Given the description of an element on the screen output the (x, y) to click on. 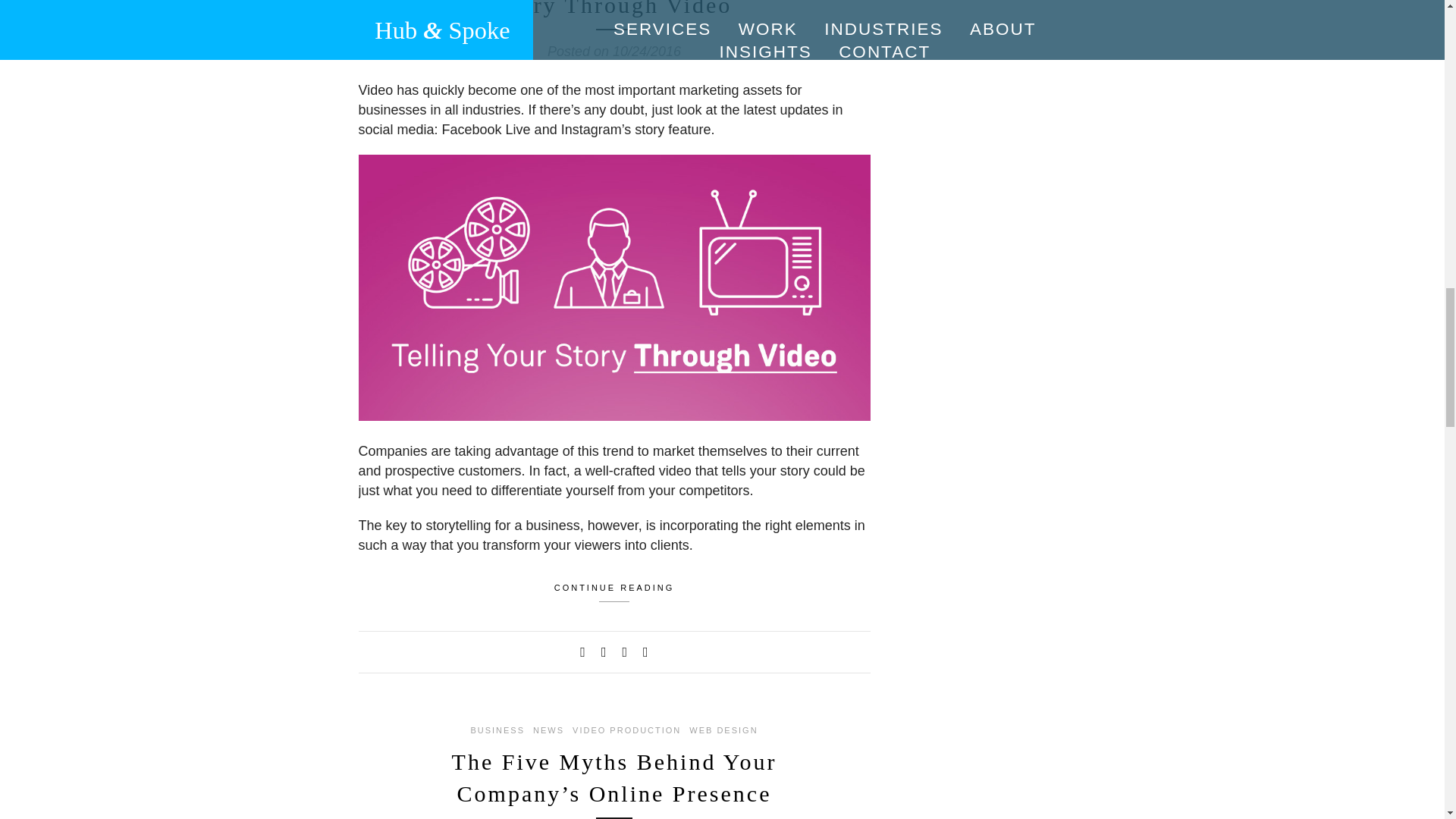
BUSINESS (497, 730)
NEWS (548, 730)
CONTINUE READING (613, 589)
VIDEO PRODUCTION (626, 730)
